Given the description of an element on the screen output the (x, y) to click on. 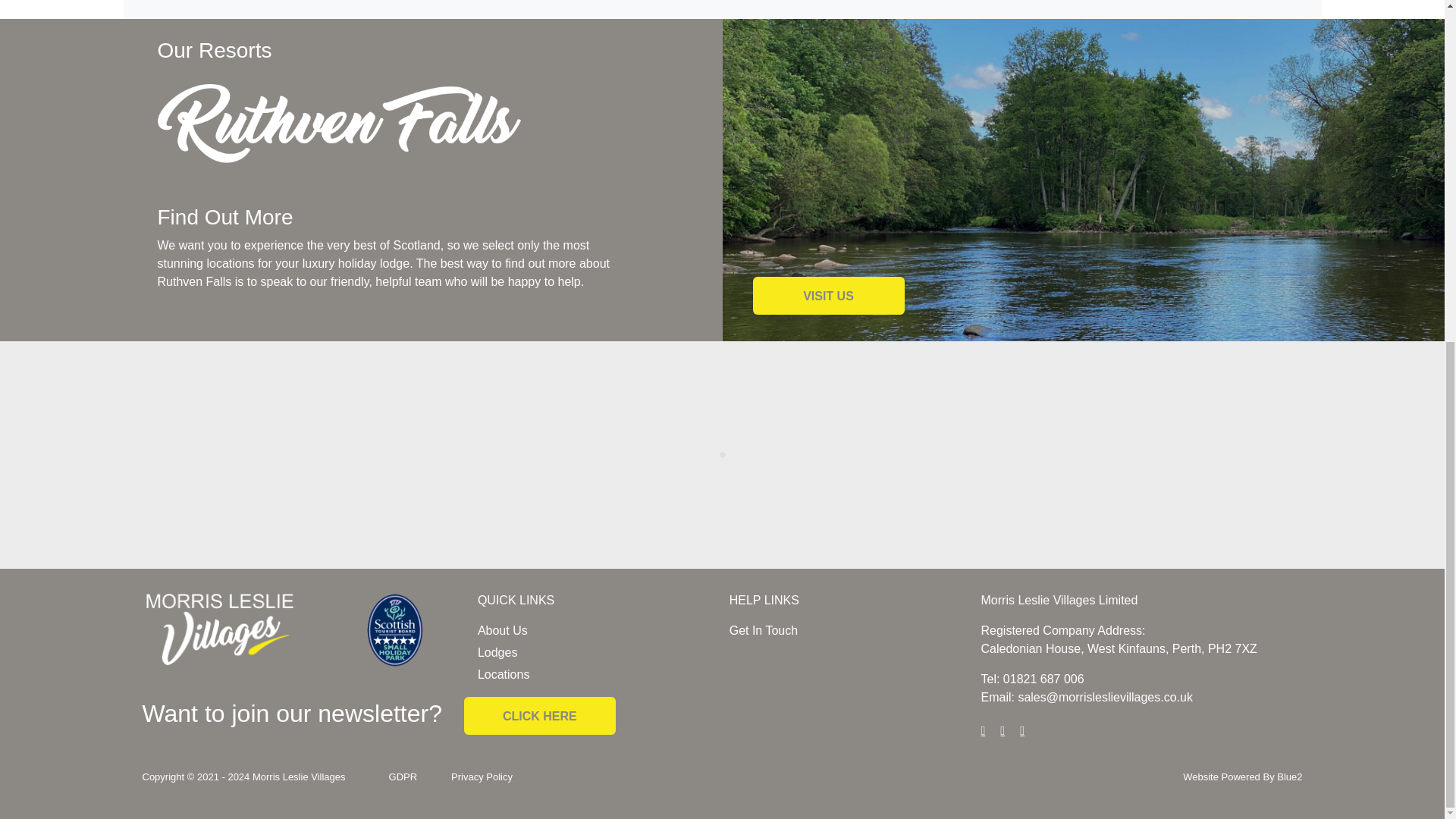
Blue2 (1288, 776)
Locations (503, 674)
Get In Touch (763, 630)
GDPR (402, 776)
Lodges (497, 652)
VISIT US (828, 295)
Privacy Policy (481, 776)
CLICK HERE (539, 715)
About Us (502, 630)
